Given the description of an element on the screen output the (x, y) to click on. 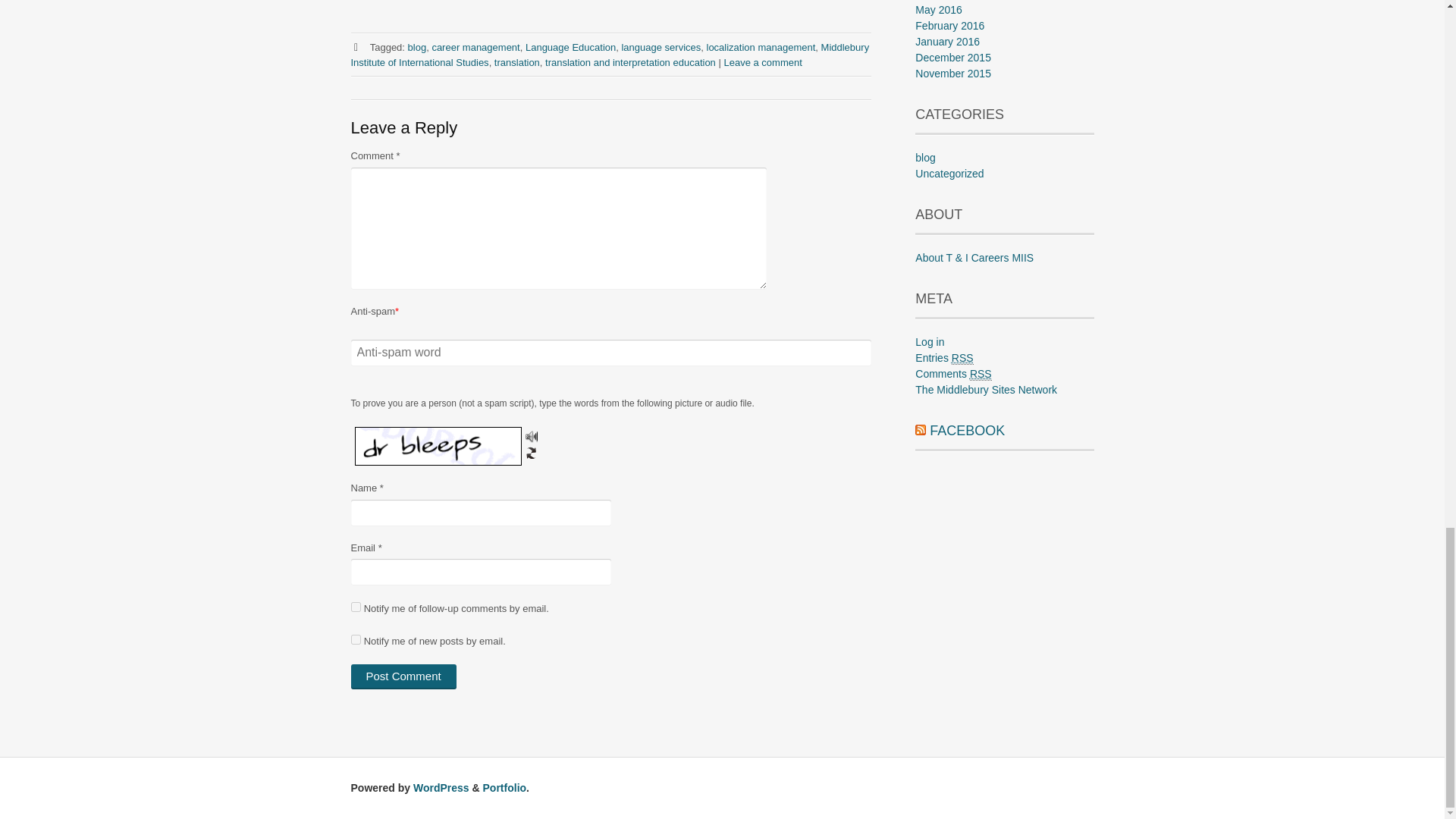
Powered by The Middlebury Sites Network (986, 389)
translation (517, 61)
Load new (530, 451)
Syndicate this content (920, 430)
Post Comment (402, 676)
Syndicate this site using RSS 2.0 (943, 358)
blog (416, 46)
Really Simple Syndication (980, 373)
Listen (530, 436)
The latest comments to all posts in RSS (953, 373)
subscribe (354, 639)
localization management (760, 46)
Post Comment (402, 676)
career management (474, 46)
Language Education (570, 46)
